Given the description of an element on the screen output the (x, y) to click on. 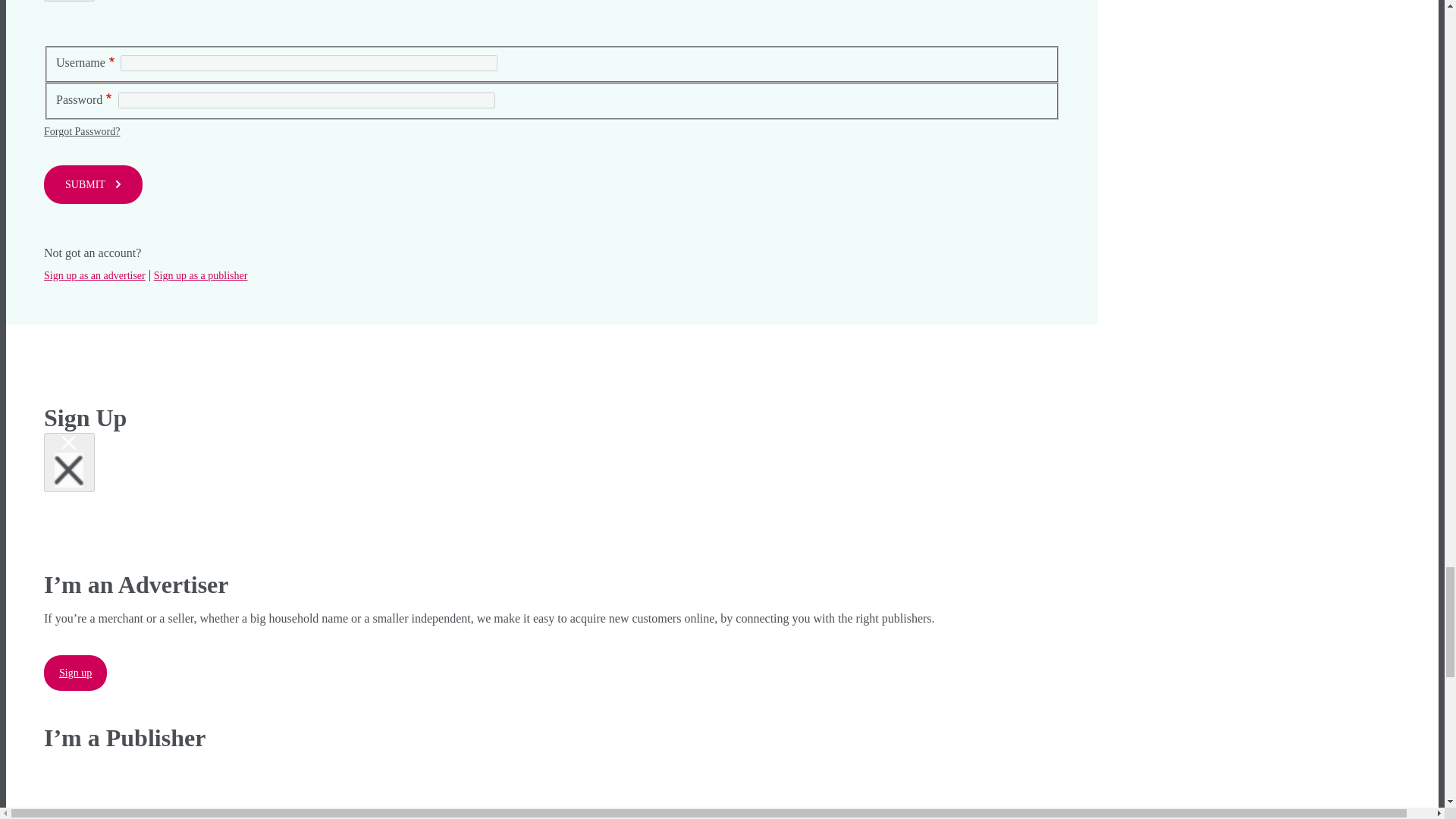
SUBMIT (92, 184)
Forgot Password? (81, 131)
Sign up as a publisher (198, 275)
Sign up (74, 673)
Sign up as an advertiser (94, 275)
